Given the description of an element on the screen output the (x, y) to click on. 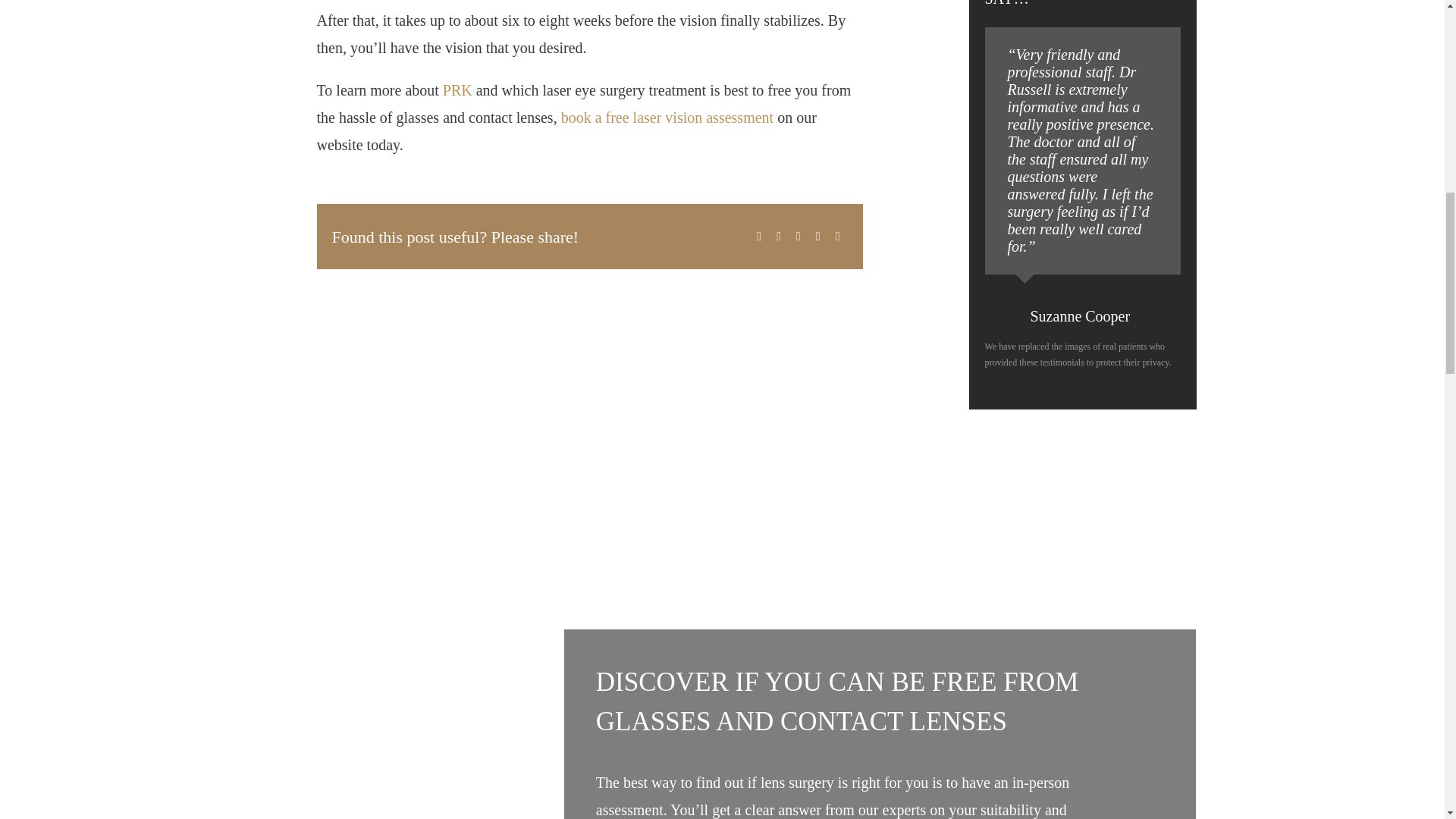
Email (837, 237)
book a free laser vision assessment (666, 117)
WhatsApp (818, 237)
PRK (456, 89)
Facebook (758, 237)
X (778, 237)
LinkedIn (798, 237)
